Given the description of an element on the screen output the (x, y) to click on. 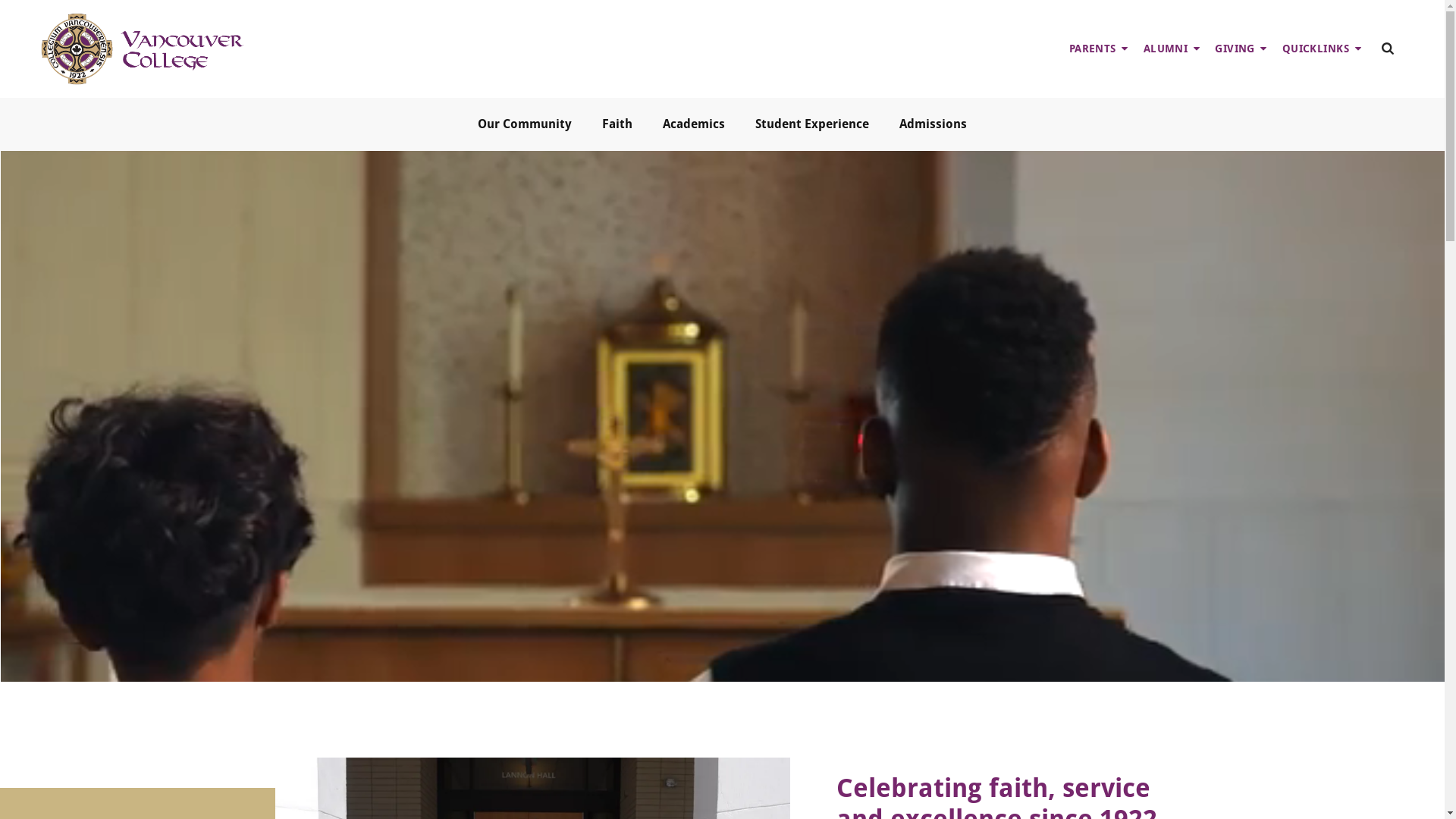
Our Community Element type: text (524, 123)
ALUMNI Element type: text (1171, 48)
Academics Element type: text (693, 123)
Student Experience Element type: text (812, 123)
GIVING Element type: text (1240, 48)
Faith Element type: text (616, 123)
Open Search Element type: text (1387, 48)
PARENTS Element type: text (1098, 48)
QUICKLINKS Element type: text (1321, 48)
Admissions Element type: text (933, 123)
